Given the description of an element on the screen output the (x, y) to click on. 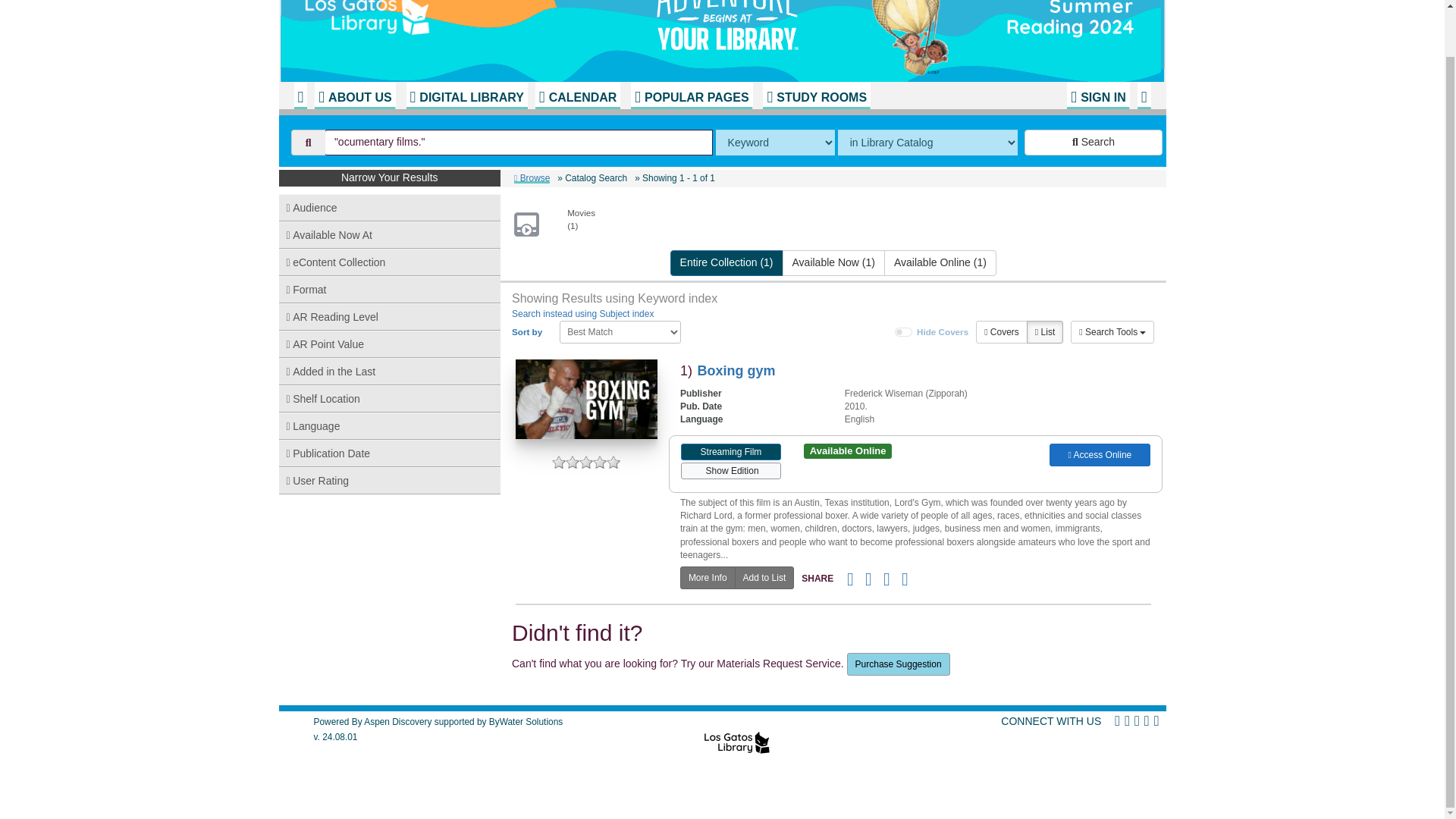
POPULAR PAGES (691, 94)
SIGN IN (1098, 94)
DIGITAL LIBRARY (466, 94)
STUDY ROOMS (816, 94)
 Search (1093, 142)
ABOUT US (354, 94)
CALENDAR (578, 94)
on (903, 331)
"ocumentary films." (518, 142)
Library Home Page (483, 35)
